Given the description of an element on the screen output the (x, y) to click on. 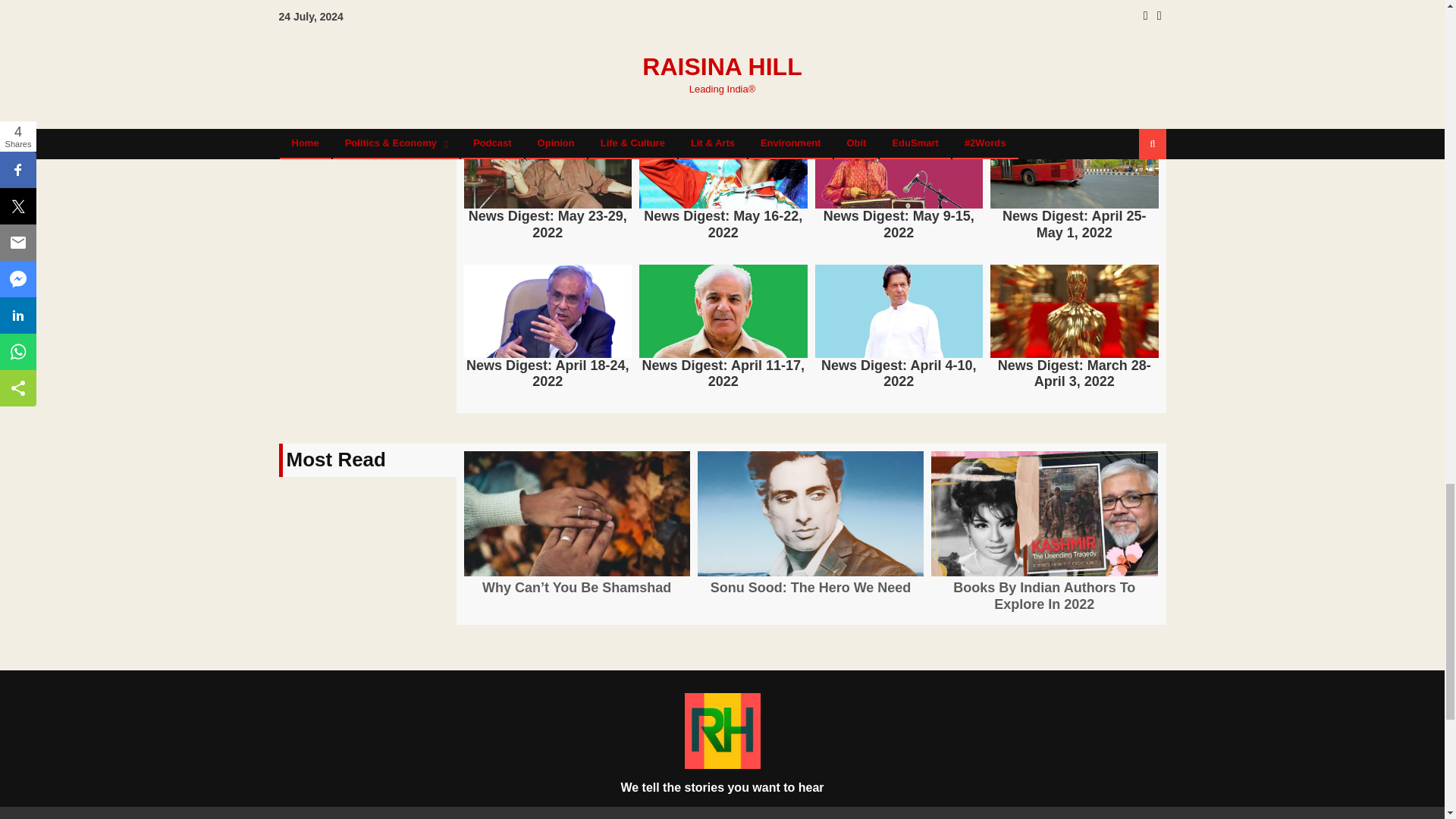
News Digest: May 16-22, 2022 (723, 224)
News Digest: May 23-29, 2022 (547, 224)
News Digest: May 9-15, 2022 (897, 224)
News Digest: May 9-15, 2022 (897, 161)
News Digest: May 16-22, 2022 (723, 161)
News Digest: May 23-29, 2022 (547, 161)
